Given the description of an element on the screen output the (x, y) to click on. 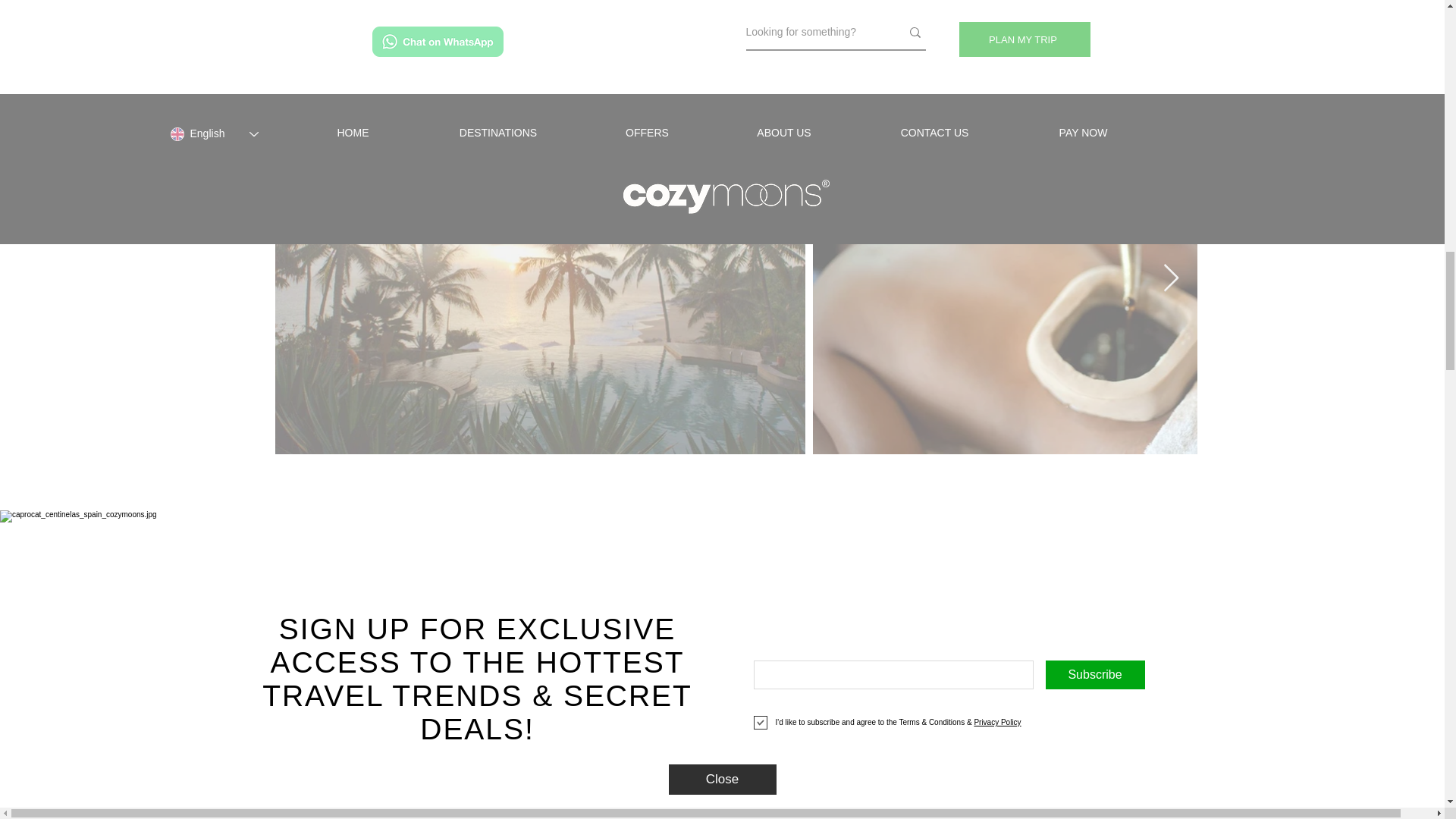
LET'S CHAT HERE (722, 736)
